Given the description of an element on the screen output the (x, y) to click on. 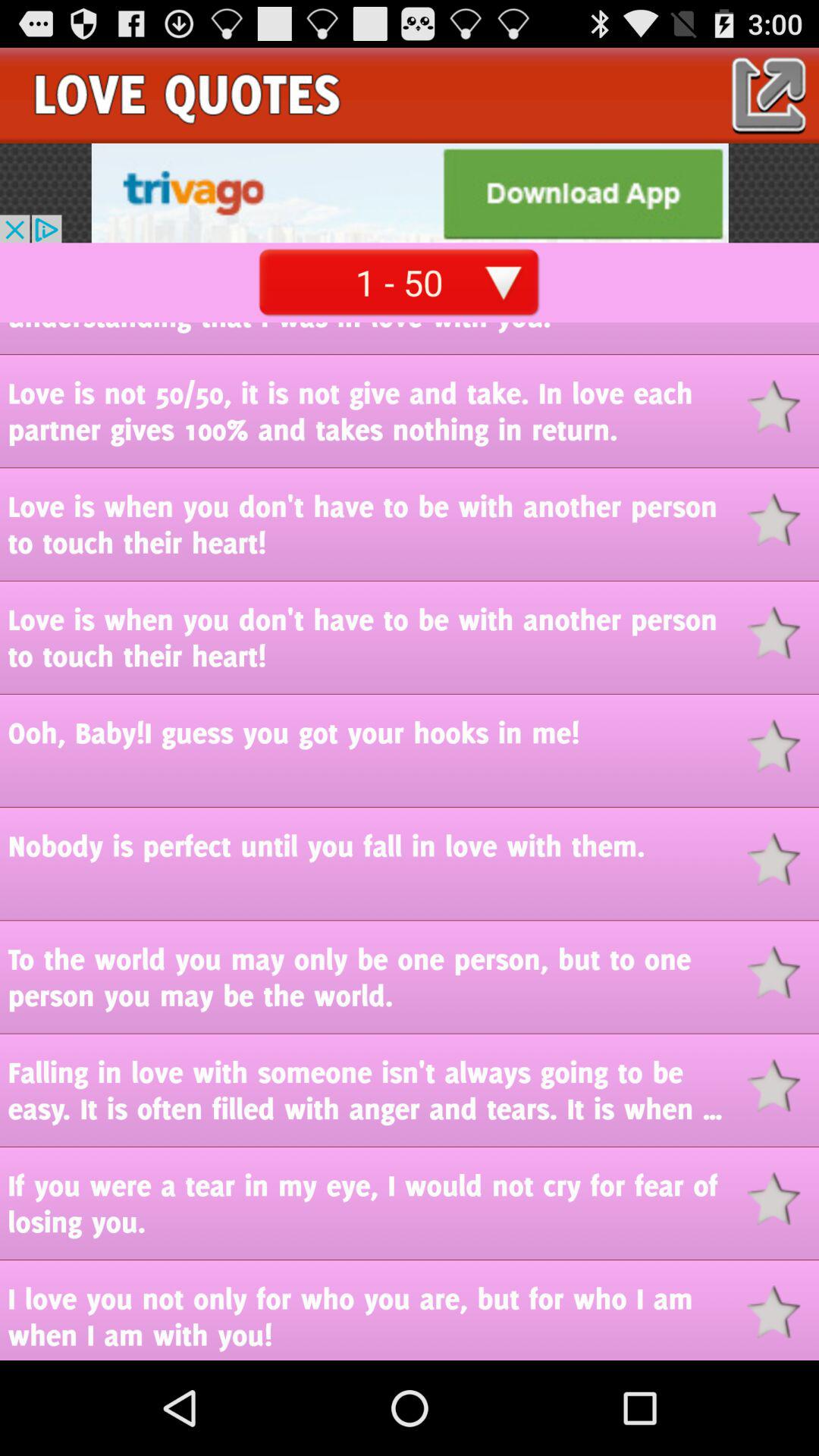
favorite (783, 1311)
